Given the description of an element on the screen output the (x, y) to click on. 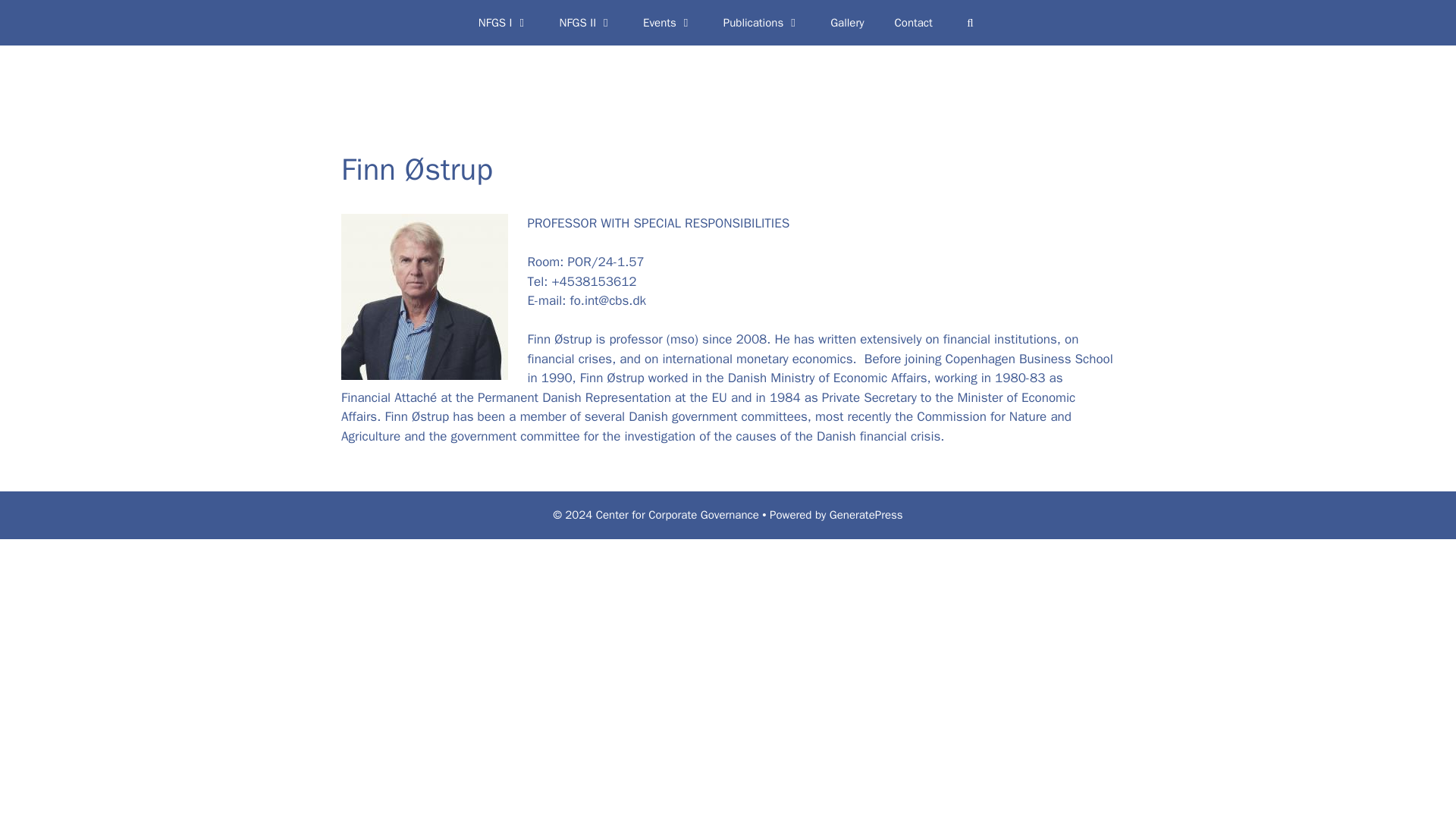
GeneratePress (865, 514)
Events (667, 22)
NFGS II (586, 22)
NFGS I (503, 22)
Gallery (847, 22)
Publications (761, 22)
Contact (913, 22)
